Given the description of an element on the screen output the (x, y) to click on. 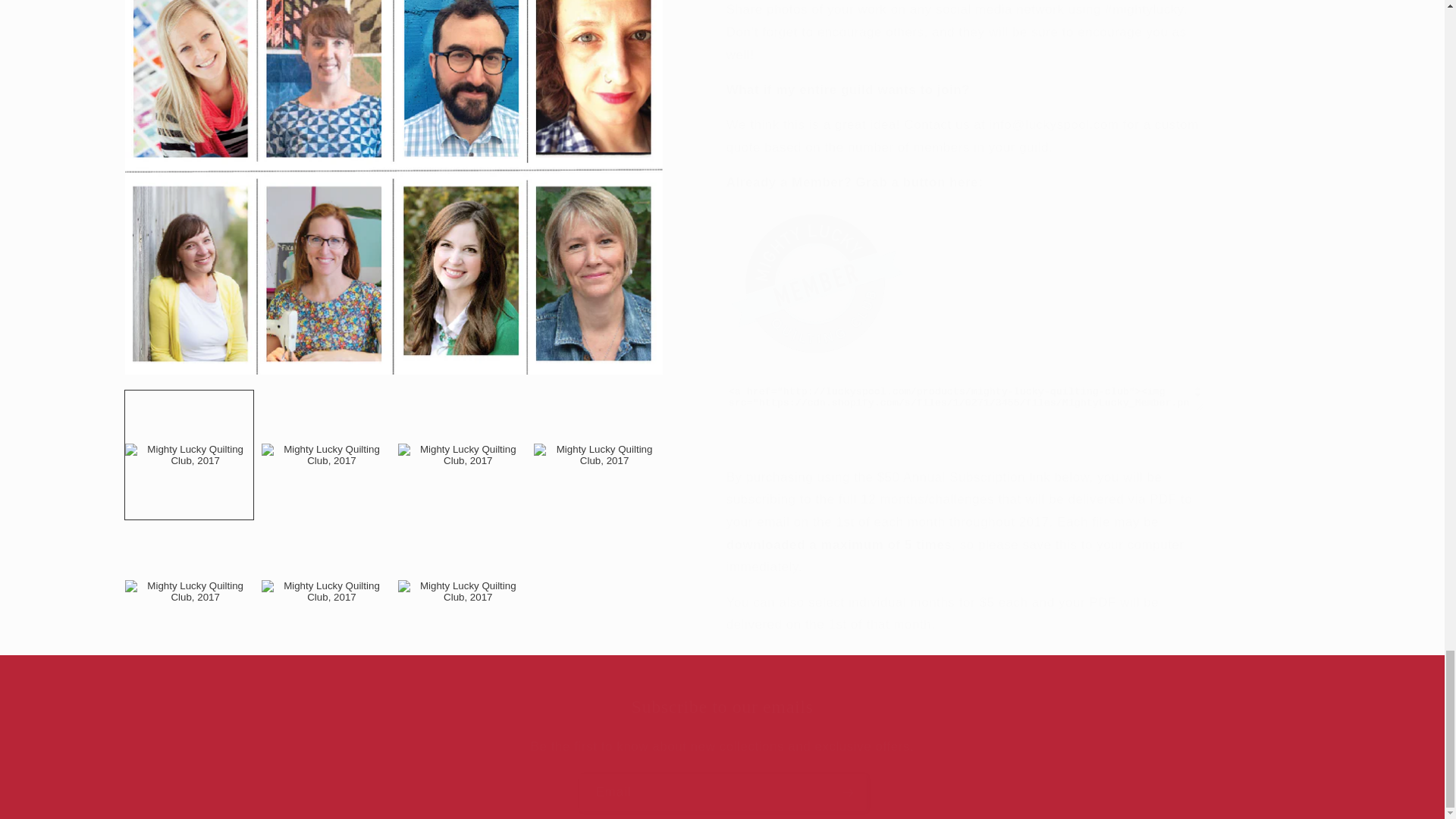
Subscribe to our emails (722, 707)
Email (722, 791)
